Given the description of an element on the screen output the (x, y) to click on. 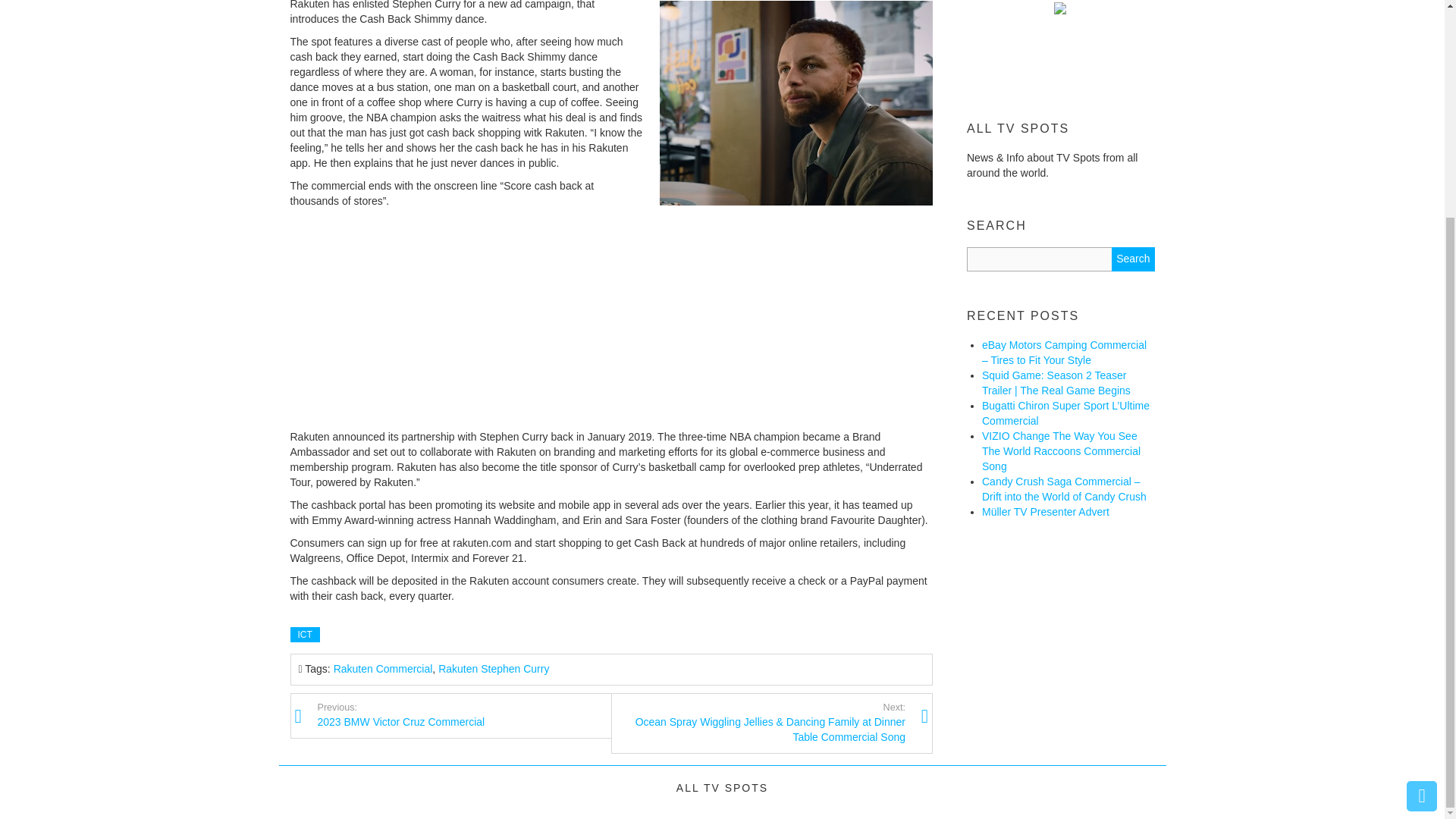
Search (464, 714)
ICT (1133, 259)
Rakuten Commercial (303, 634)
Search (382, 668)
Rakuten Stephen Curry (1133, 259)
